Given the description of an element on the screen output the (x, y) to click on. 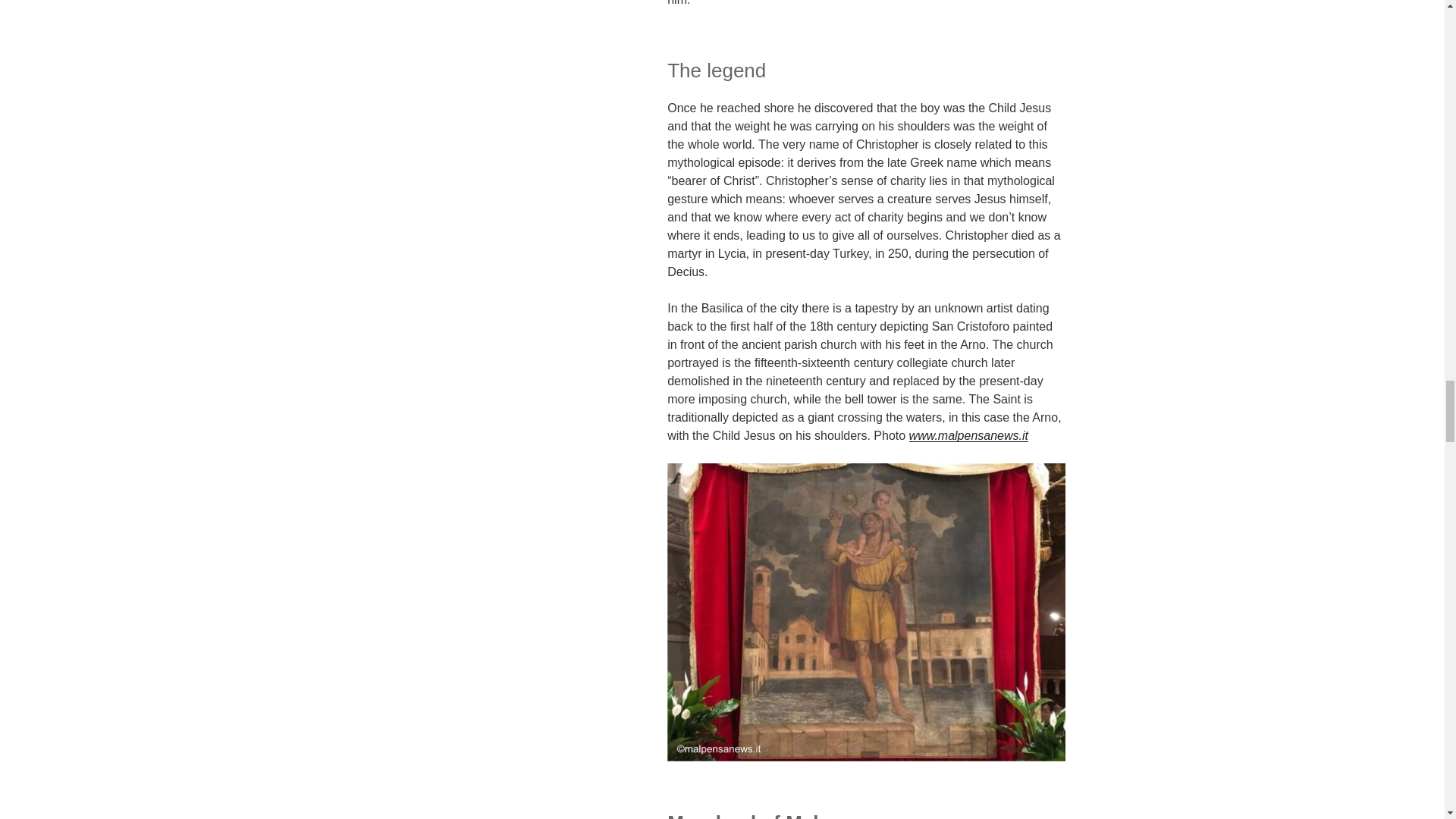
www.malpensanews.it (967, 435)
